Given the description of an element on the screen output the (x, y) to click on. 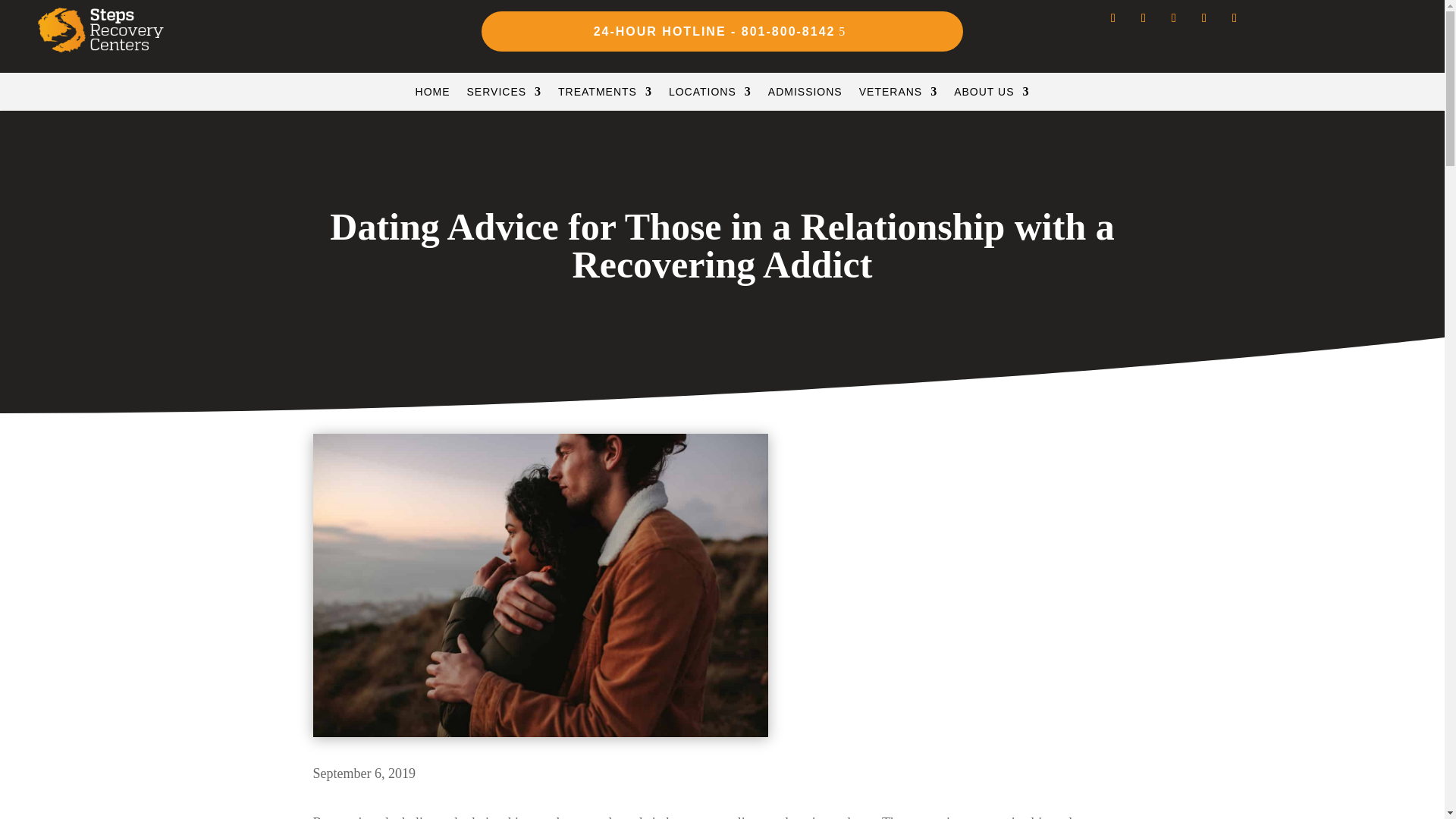
Steps-Recovery-Centers-Utah-Logo-1.png (100, 30)
Follow on Instagram (1112, 17)
SERVICES (504, 94)
Follow on Facebook (1143, 17)
Follow on Youtube (1203, 17)
HOME (431, 94)
ADMISSIONS (805, 94)
Follow on X (1173, 17)
VETERANS (898, 94)
